Given the description of an element on the screen output the (x, y) to click on. 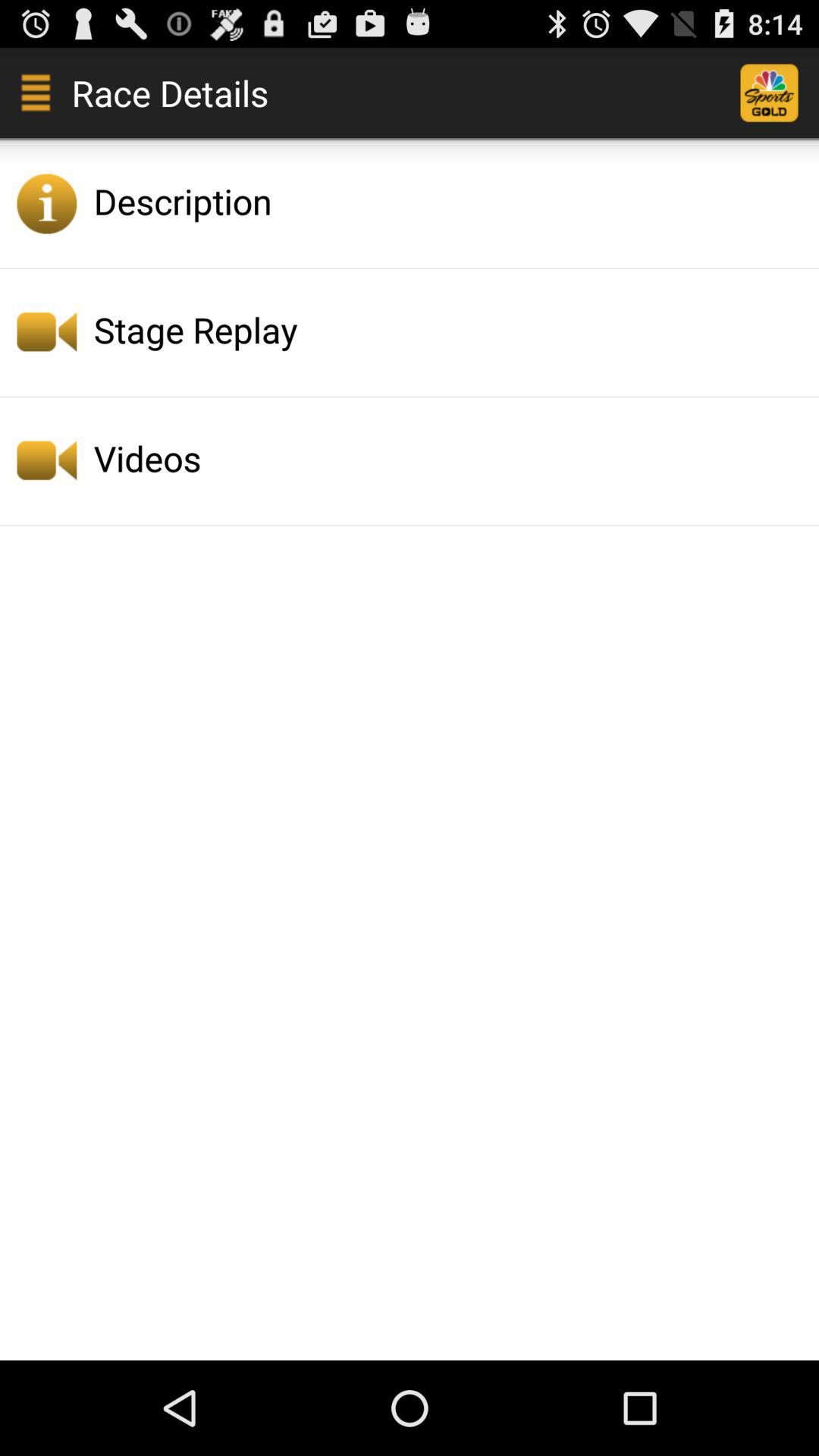
swipe until the description icon (452, 200)
